Given the description of an element on the screen output the (x, y) to click on. 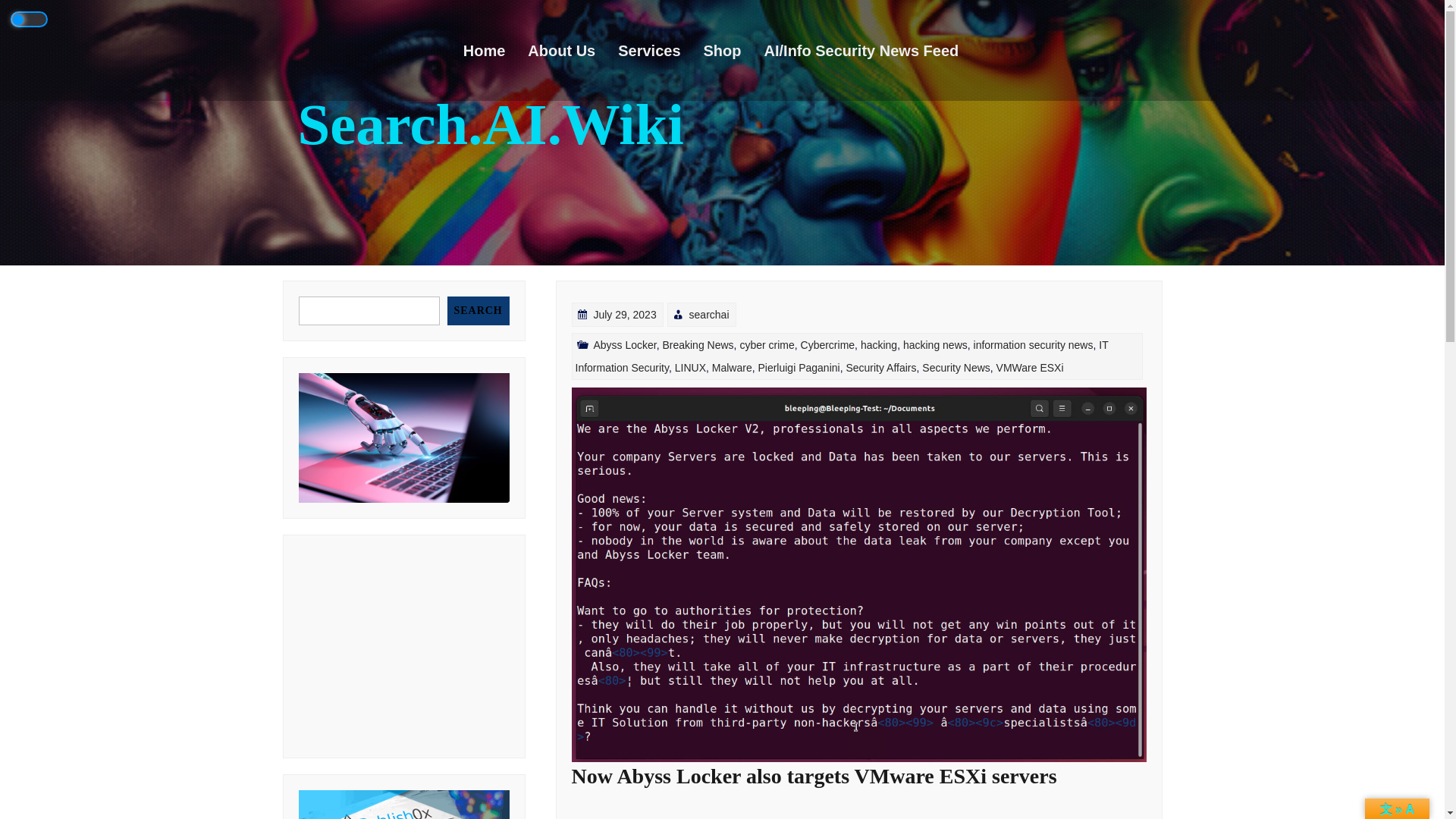
Search.AI.Wiki (489, 124)
Home (495, 49)
VMWare ESXi (1029, 367)
information security news (1033, 345)
searchai (708, 314)
hacking (878, 345)
July 29, 2023 (624, 314)
Malware (731, 367)
Security Affairs (880, 367)
hacking news (935, 345)
Cybercrime (828, 345)
LINUX (690, 367)
Pierluigi Paganini (798, 367)
Services (660, 49)
